Given the description of an element on the screen output the (x, y) to click on. 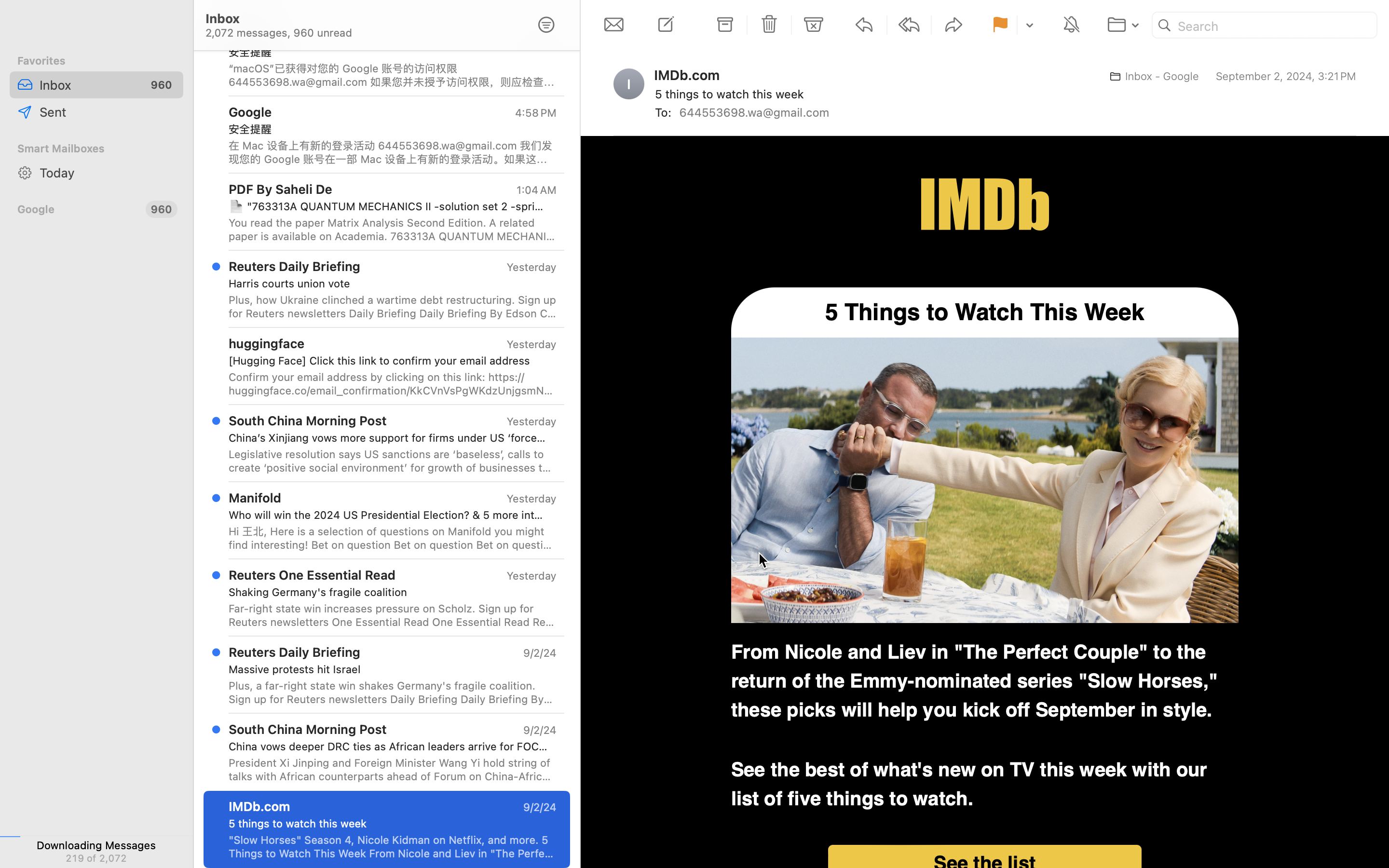
Sent Element type: AXStaticText (107, 111)
Far-right state win increases pressure on Scholz. Sign up for Reuters newsletters One Essential Read One Essential Read Recommended by Edson Caldas, Newsletter Editor Pressure mounts on Scholz Right-wing Alternative for Germany top candidate Bjoern Hoecke on the day of the Thuringia state election. REUTERS/Wolfgang Rattay The Alternative for Germany is on track to become the first far-right party to win a regional election in Germany since World War Two, dealing a blow to parties in Chancellor Olaf Scholz's government. The results are likely to aggravate instability in an already fractious ruling coalition, Chief Correspondent Sarah Marsh reports. The German government's faltering authority could also complicate European policy when the bloc's other major power France is still struggling to form a government. Read the full article Sponsors are not involved in the creation of newsletters or other Reuters news content. Advertise in this newsletter or on Reuters.com Reuters One Essential R Element type: AXStaticText (392, 614)
huggingface Element type: AXStaticText (266, 343)
在 Mac 设备上有新的登录活动 644553698.wa@gmail.com 我们发现您的 Google 账号在一部 Mac 设备上有新的登录活动。如果这是您本人的操作，那么您无需采取任何行动。如果这不是您本人的操作，我们会帮助您保护您的账号。 查看活动 您也可以访问以下网址查看安全性活动： https://myaccount.google.com/notifications 我们向您发送这封电子邮件，目的是让您了解关于您的 Google 账号和服务的重大变化。 © 2024 Google LLC, 1600 Amphitheatre Parkway, Mountain View, CA 94043, USA Element type: AXStaticText (392, 151)
安全提醒 Element type: AXStaticText (388, 51)
